Given the description of an element on the screen output the (x, y) to click on. 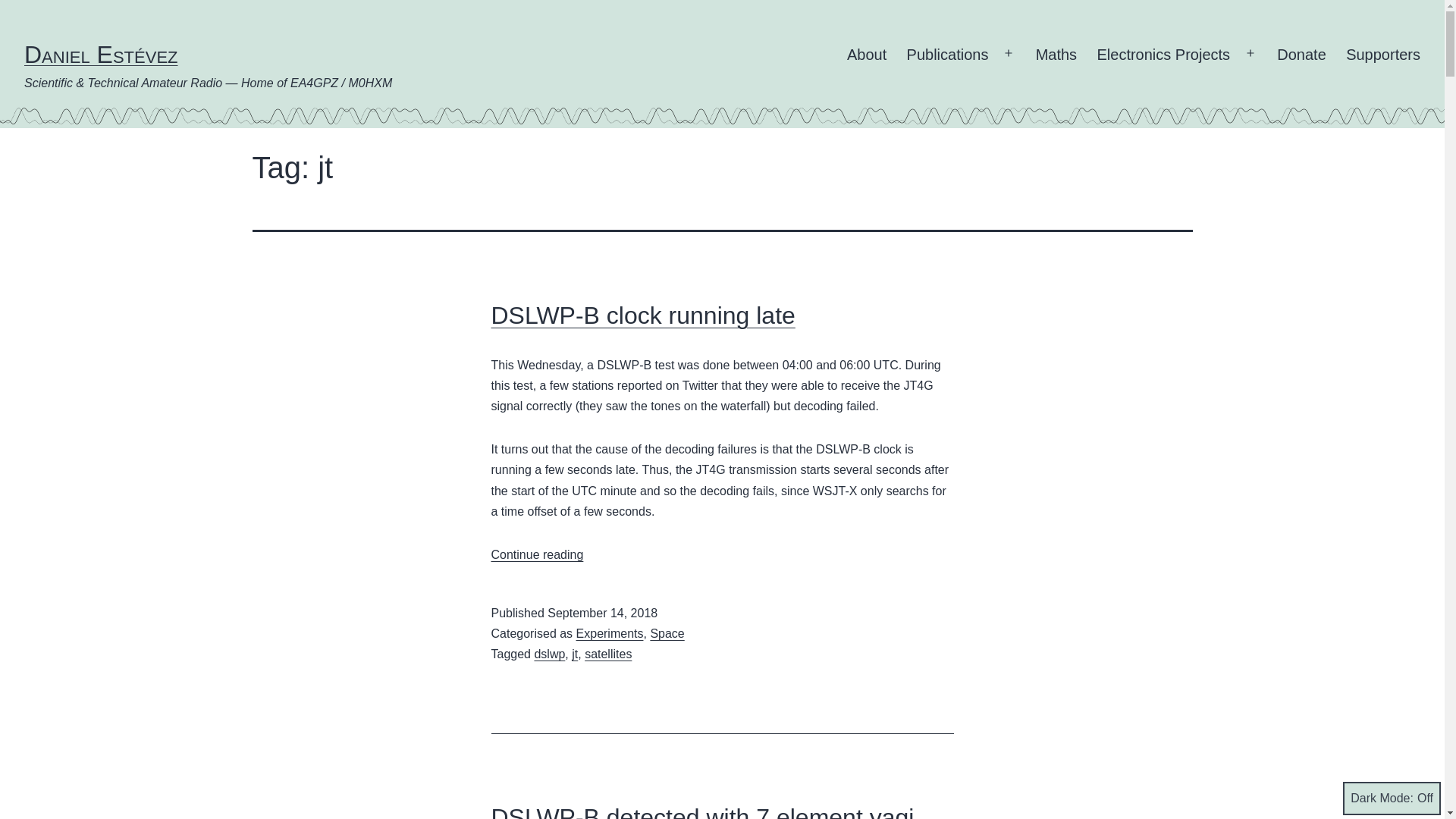
Publications (946, 54)
dslwp (549, 653)
DSLWP-B clock running late (643, 315)
Space (537, 554)
DSLWP-B detected with 7 element yagi (666, 633)
Electronics Projects (703, 811)
satellites (1163, 54)
Supporters (608, 653)
Open menu (1382, 54)
Experiments (1008, 53)
Donate (609, 633)
Open menu (1301, 54)
Maths (1249, 53)
About (1055, 54)
